Given the description of an element on the screen output the (x, y) to click on. 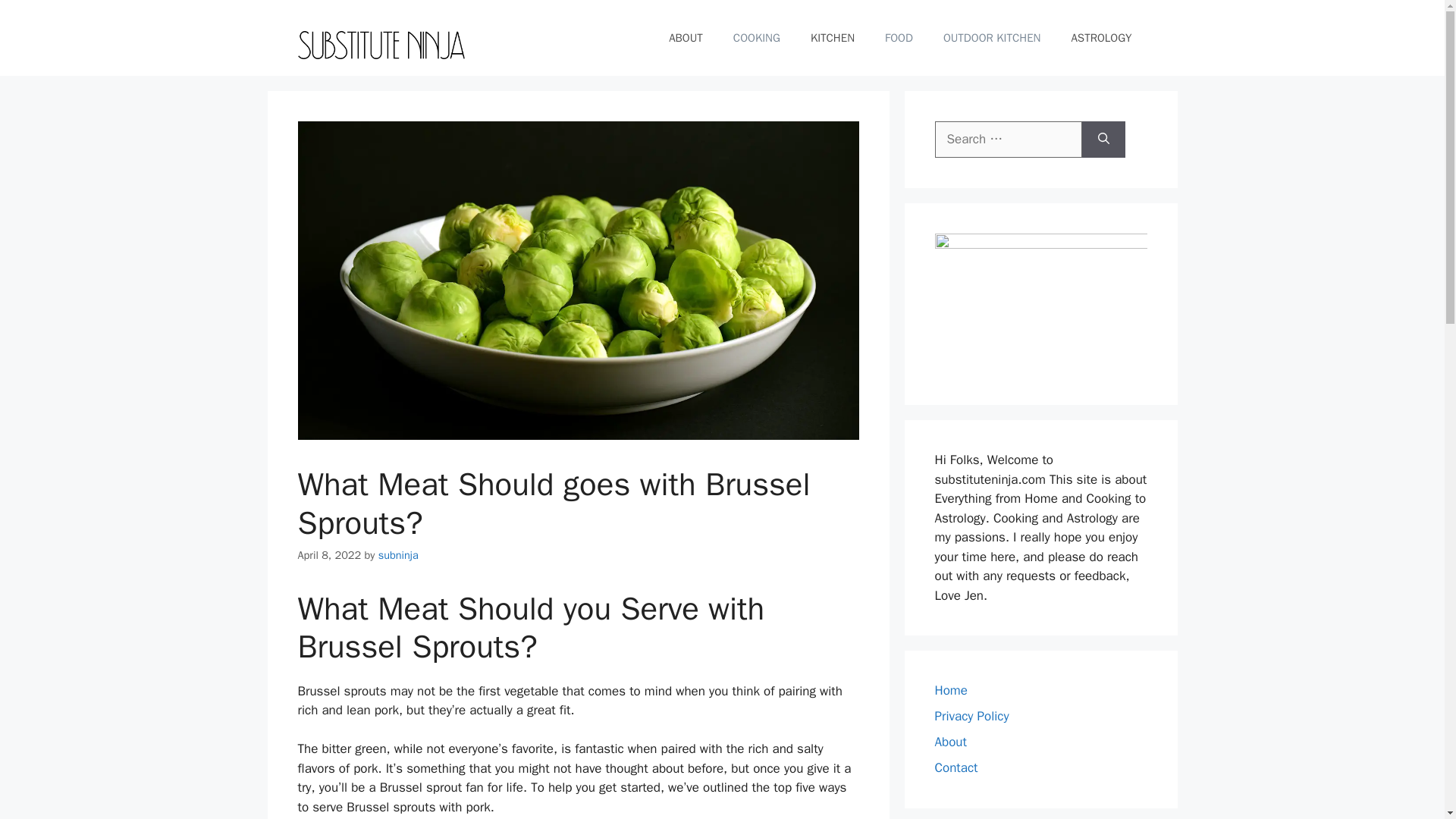
subninja (398, 554)
Search for: (1007, 139)
Contact (955, 767)
ASTROLOGY (1101, 37)
Privacy Policy (971, 715)
ABOUT (685, 37)
COOKING (755, 37)
About (950, 741)
KITCHEN (831, 37)
OUTDOOR KITCHEN (992, 37)
